Given the description of an element on the screen output the (x, y) to click on. 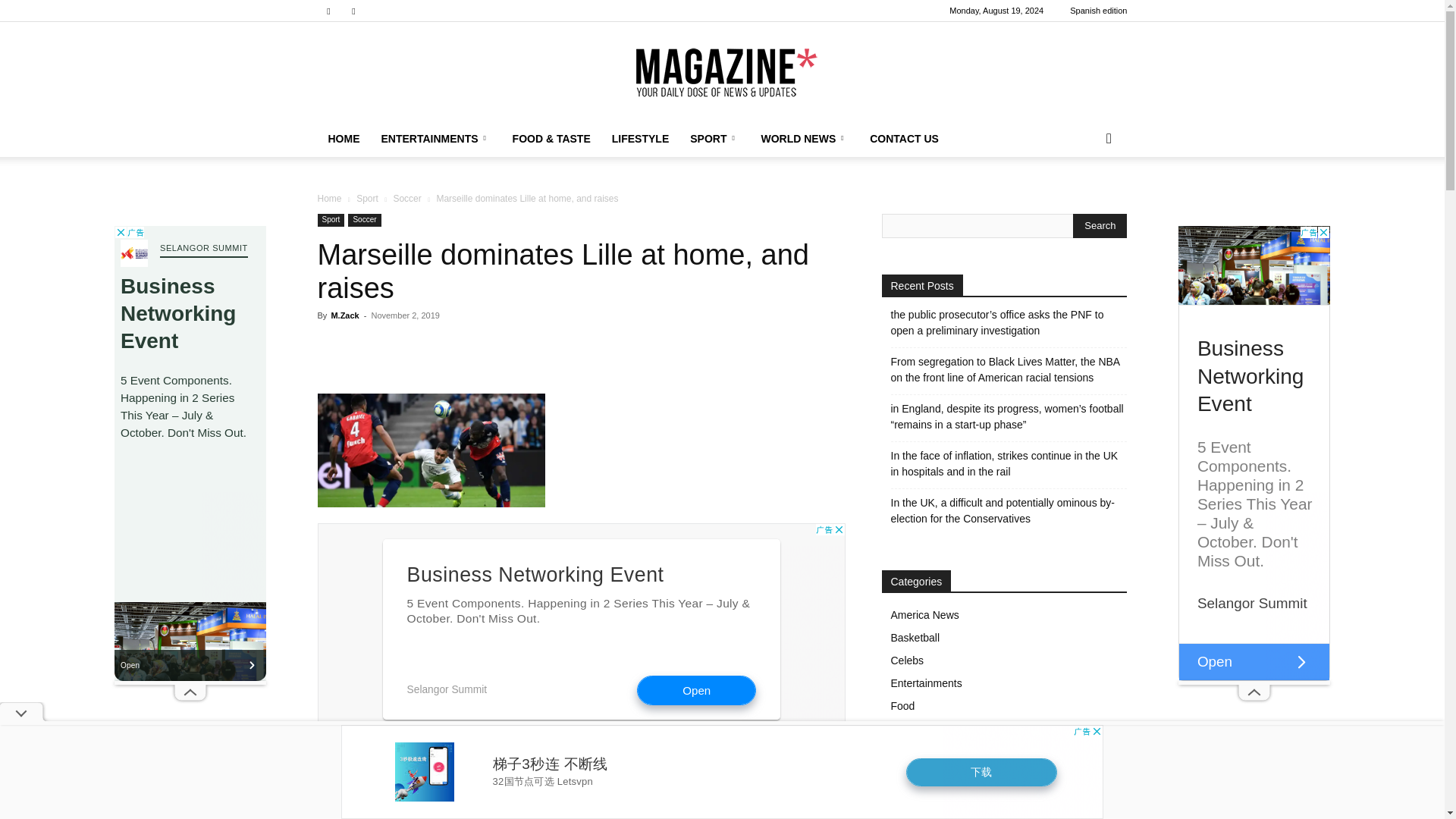
Pinterest (353, 10)
View all posts in Soccer (406, 198)
WORLD NEWS (804, 138)
SPORT (714, 138)
HOME (343, 138)
LIFESTYLE (640, 138)
Facebook (328, 10)
View all posts in Sport (367, 198)
Spanish edition (1098, 10)
ENTERTAINMENTS (434, 138)
